Given the description of an element on the screen output the (x, y) to click on. 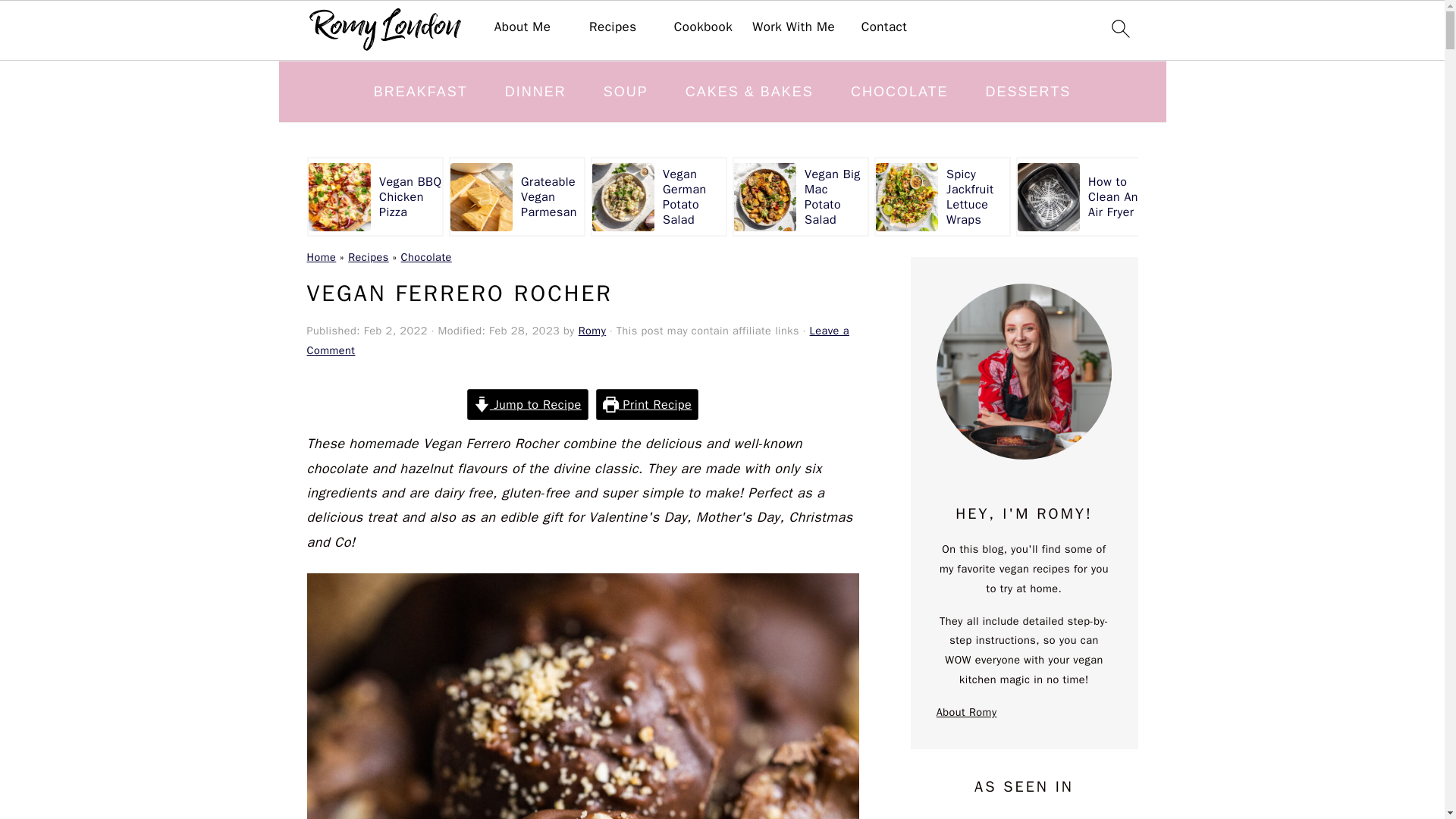
Contact (884, 27)
search icon (1119, 30)
Recipes (613, 27)
SOUP (625, 91)
BREAKFAST (420, 91)
Work With Me (793, 27)
DESSERTS (1028, 91)
CHOCOLATE (898, 91)
DINNER (535, 91)
